Given the description of an element on the screen output the (x, y) to click on. 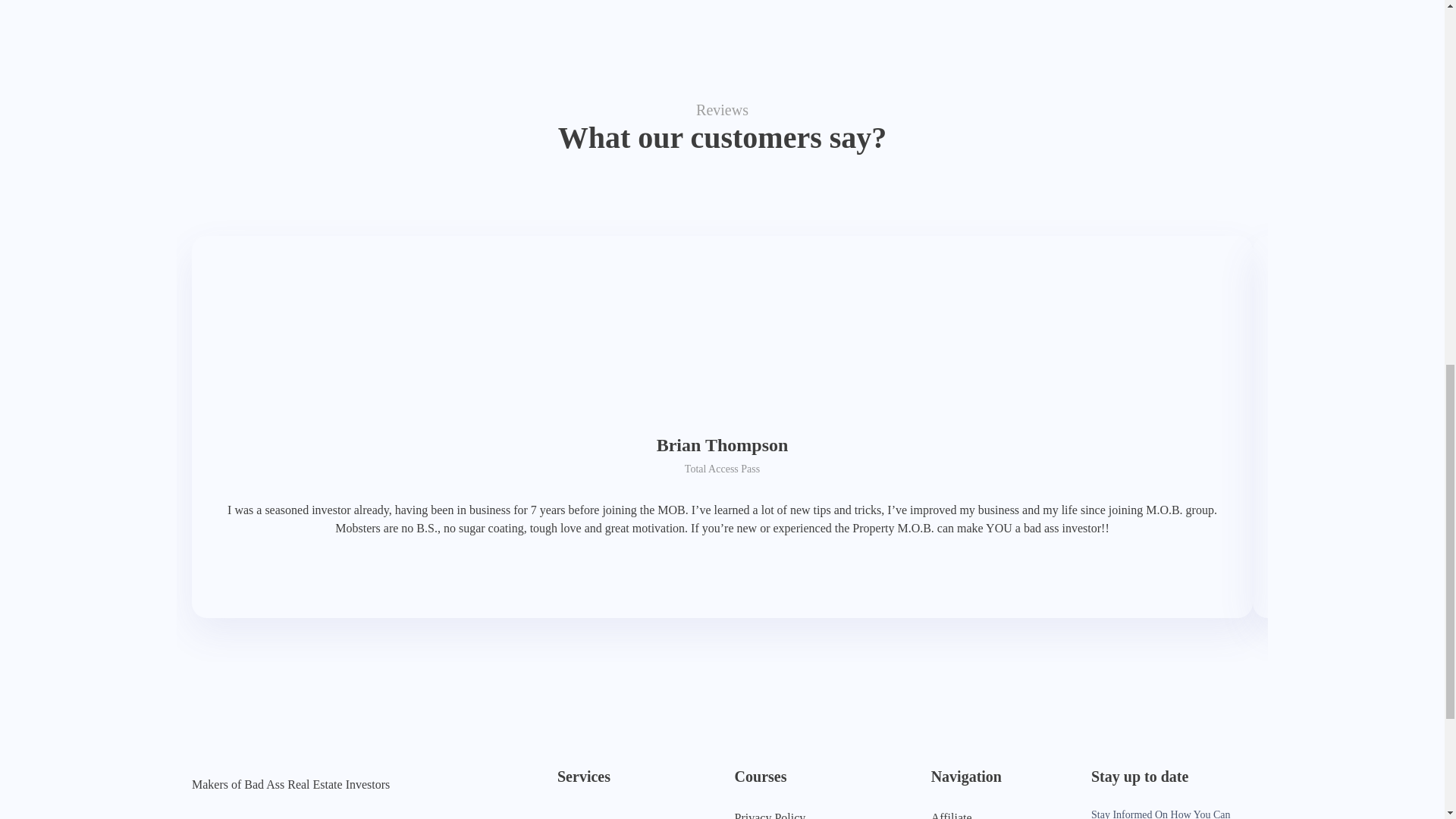
Affiliate (951, 812)
Privacy Policy (788, 812)
Virtual Assistants (601, 816)
